Given the description of an element on the screen output the (x, y) to click on. 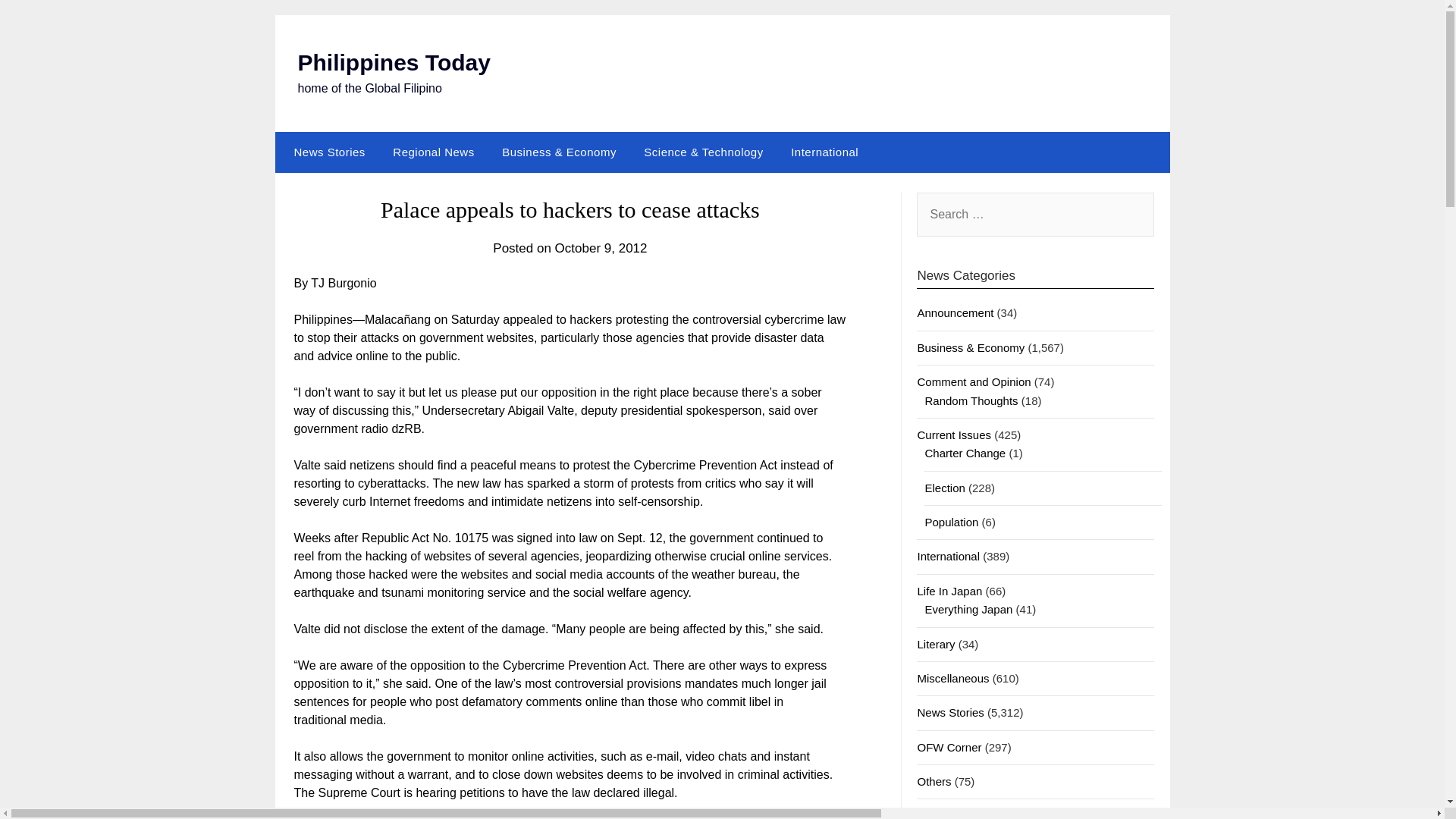
Random Thoughts (970, 400)
International (824, 151)
Search (38, 22)
Comment and Opinion (973, 381)
Life In Japan (949, 590)
Others (933, 780)
News Stories (950, 712)
News Stories (326, 151)
Election (943, 487)
Everything Japan (967, 608)
